Given the description of an element on the screen output the (x, y) to click on. 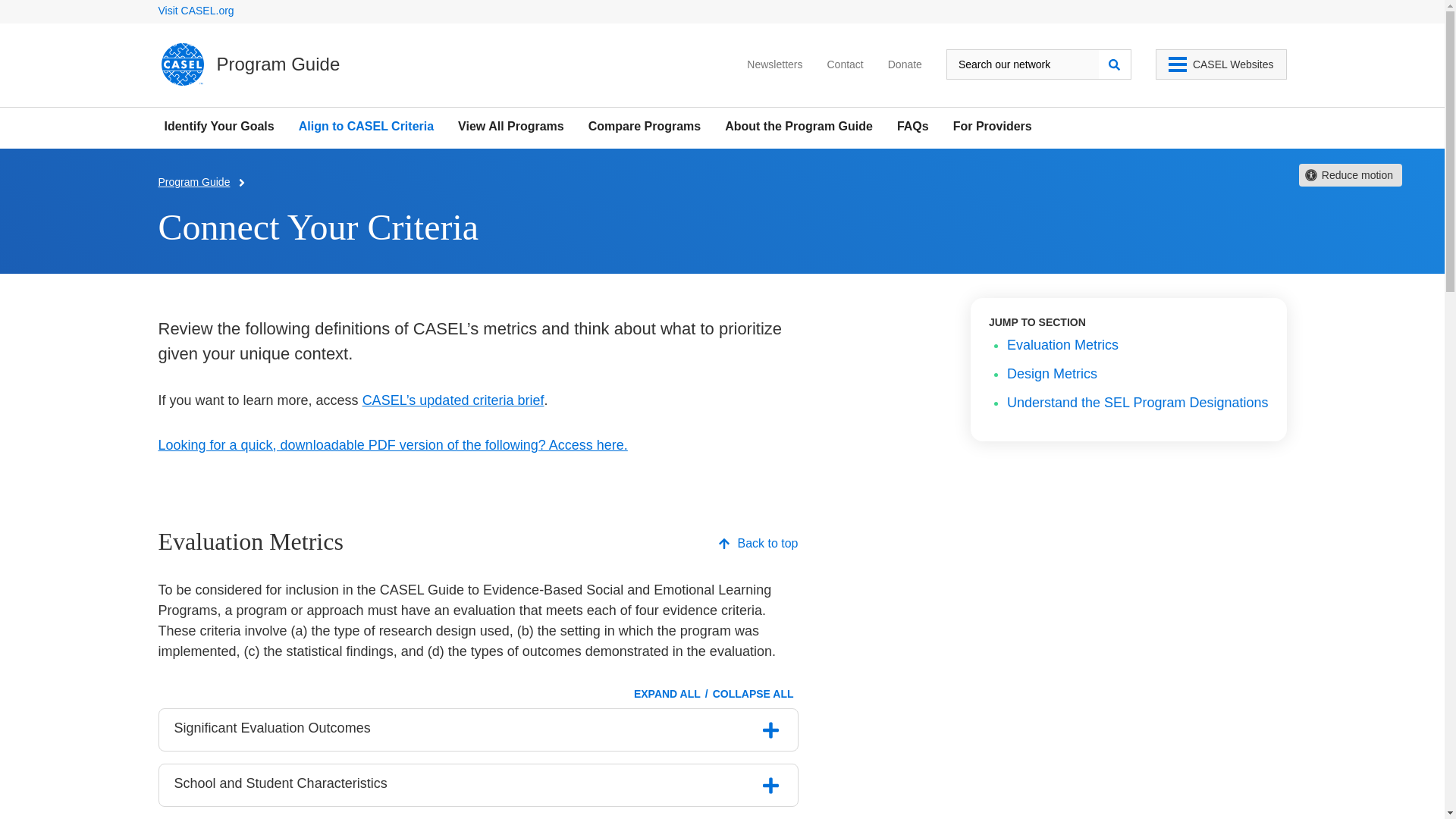
FAQs (912, 125)
COLLAPSE ALL (752, 693)
Newsletters (774, 66)
Program Guide (248, 64)
Search (1115, 63)
Identify Your Goals (218, 125)
Donate (904, 66)
on (771, 784)
Visit CASEL.org (194, 10)
